Given the description of an element on the screen output the (x, y) to click on. 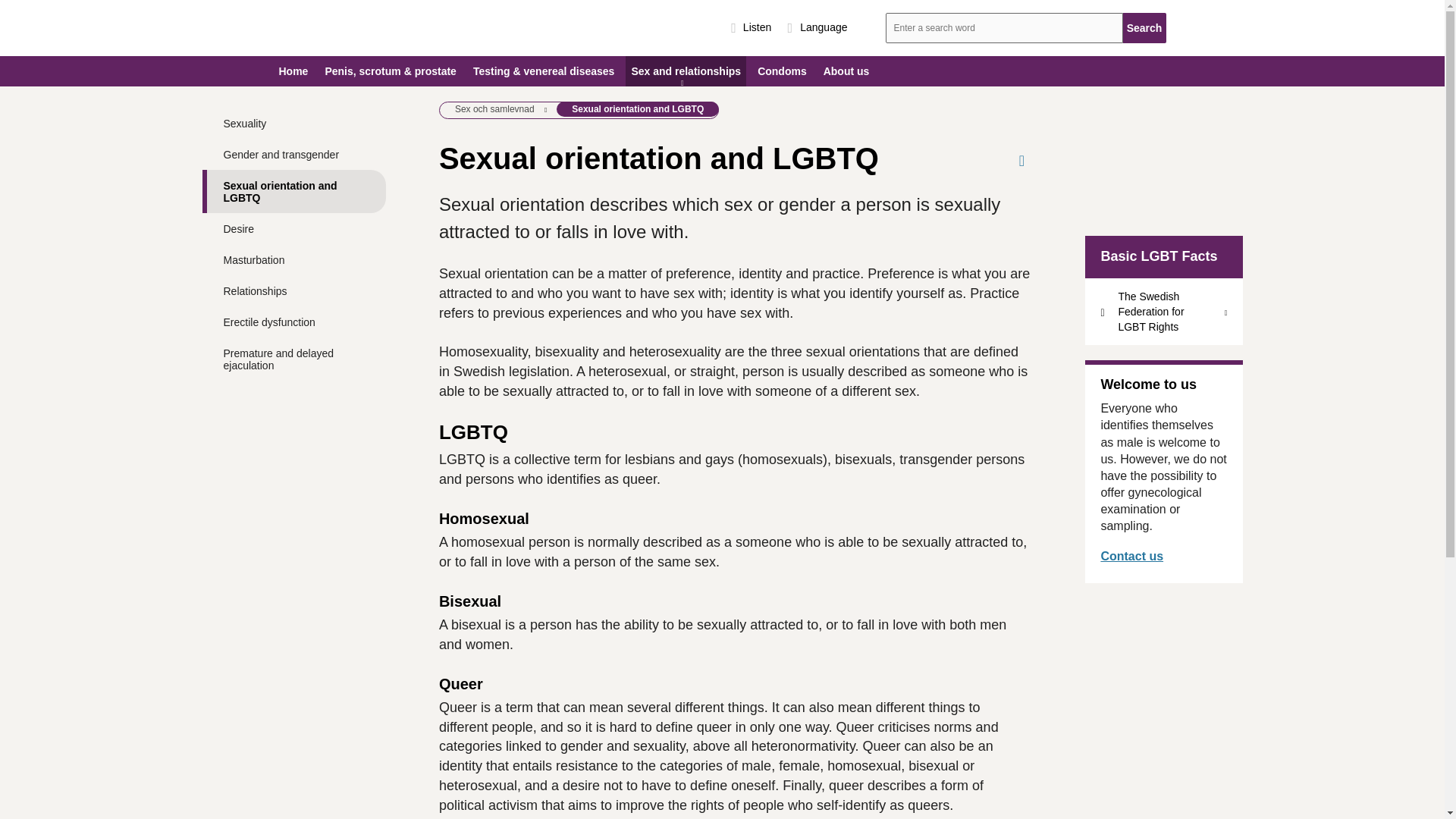
The Swedish Federation for LGBT Rights (1162, 311)
Search (1144, 28)
Search (1144, 28)
